Given the description of an element on the screen output the (x, y) to click on. 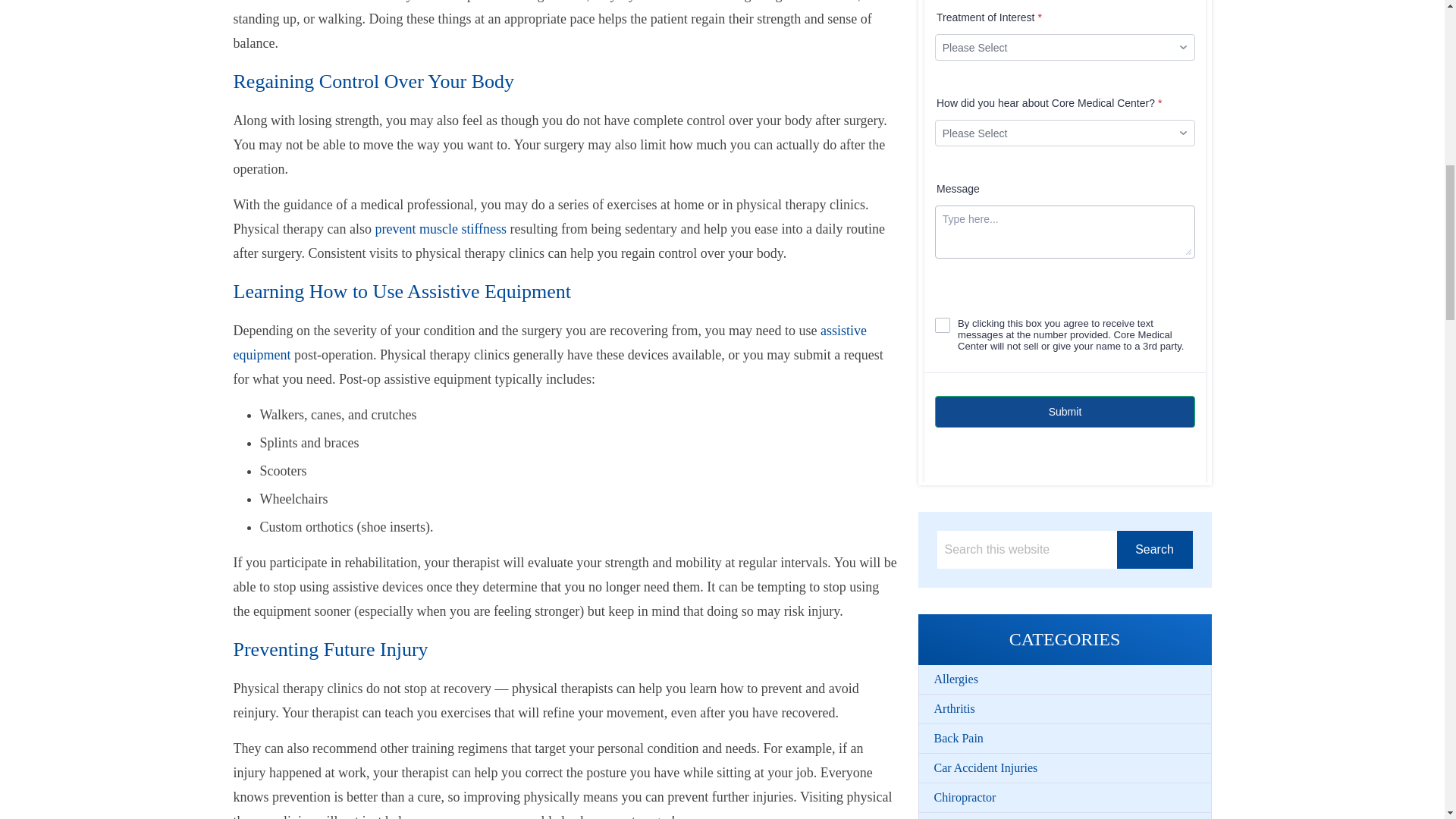
Search (1154, 549)
Search (1154, 549)
